Given the description of an element on the screen output the (x, y) to click on. 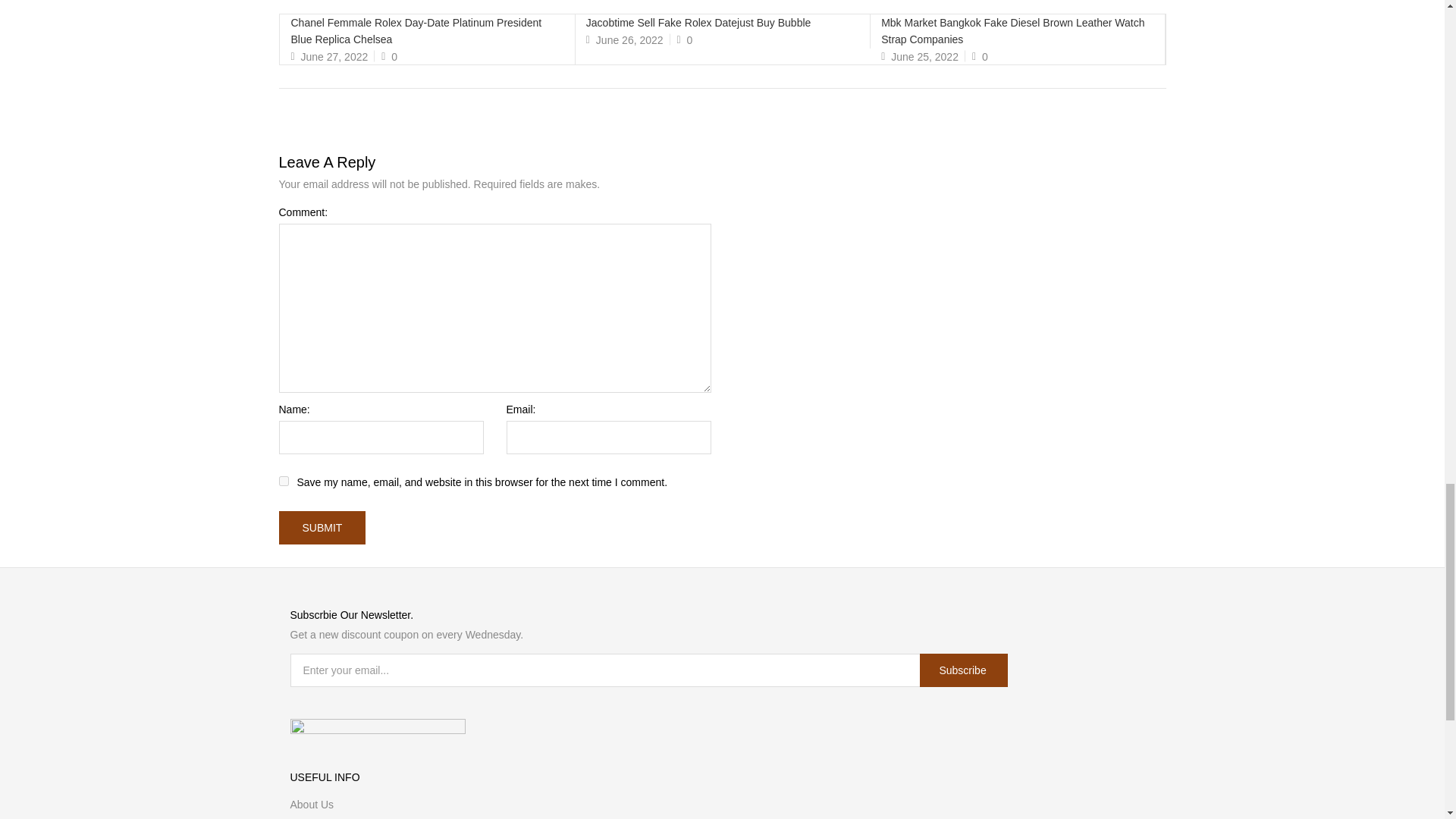
subscribe (963, 670)
submit (322, 527)
payments (376, 728)
yes (283, 480)
